Given the description of an element on the screen output the (x, y) to click on. 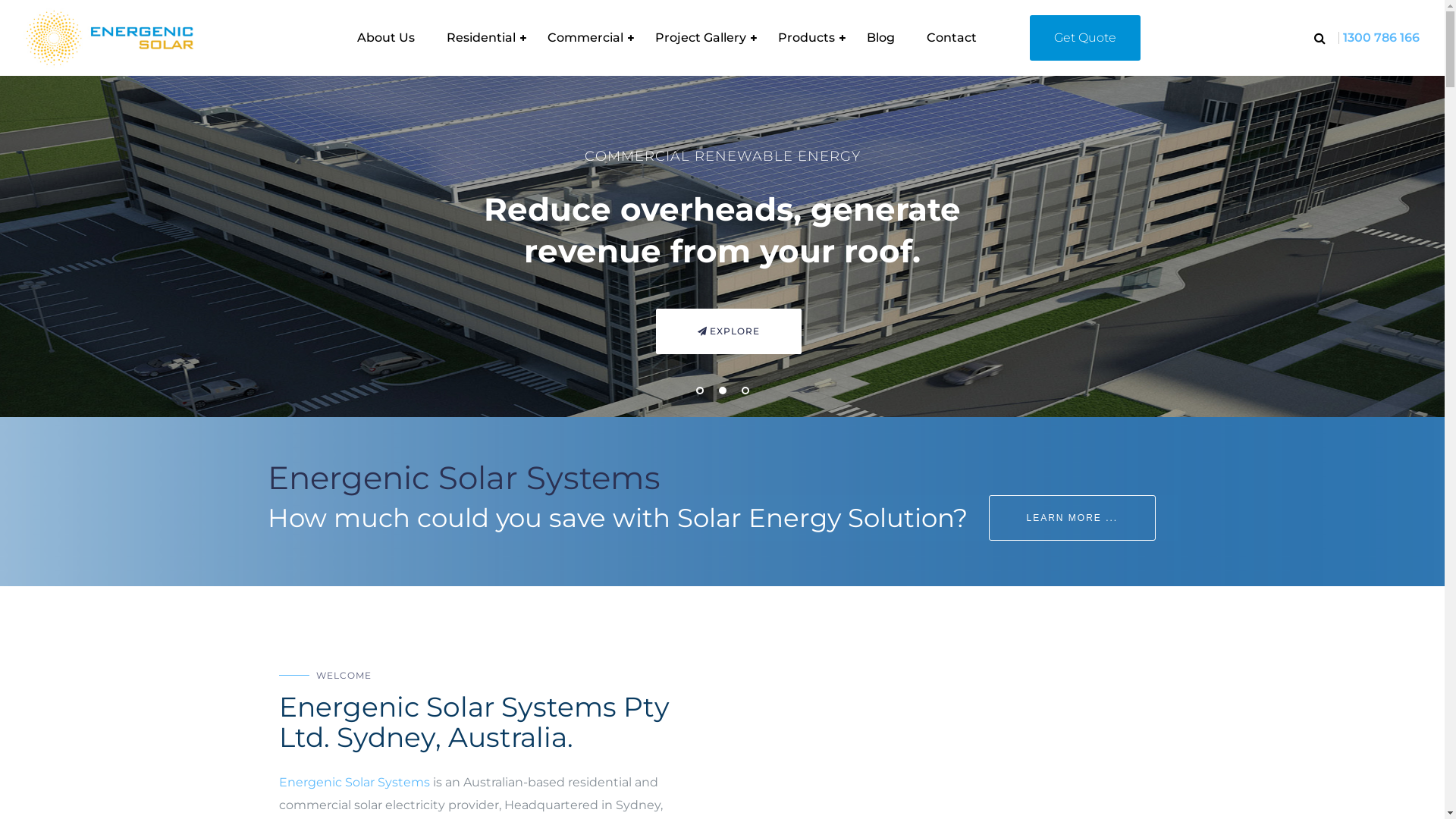
1300 786 166 Element type: text (1381, 37)
Contact Element type: text (951, 37)
Search Element type: text (1327, 81)
Blog Element type: text (880, 37)
EXPLORE Element type: text (938, 334)
Energenic Solar Systems Element type: text (354, 782)
About Us Element type: text (385, 37)
Project Gallery Element type: text (700, 37)
Commercial Element type: text (585, 37)
Products Element type: text (806, 37)
Residential Element type: text (480, 37)
Get Quote Element type: text (1084, 37)
LEARN MORE ... Element type: text (1072, 517)
